Given the description of an element on the screen output the (x, y) to click on. 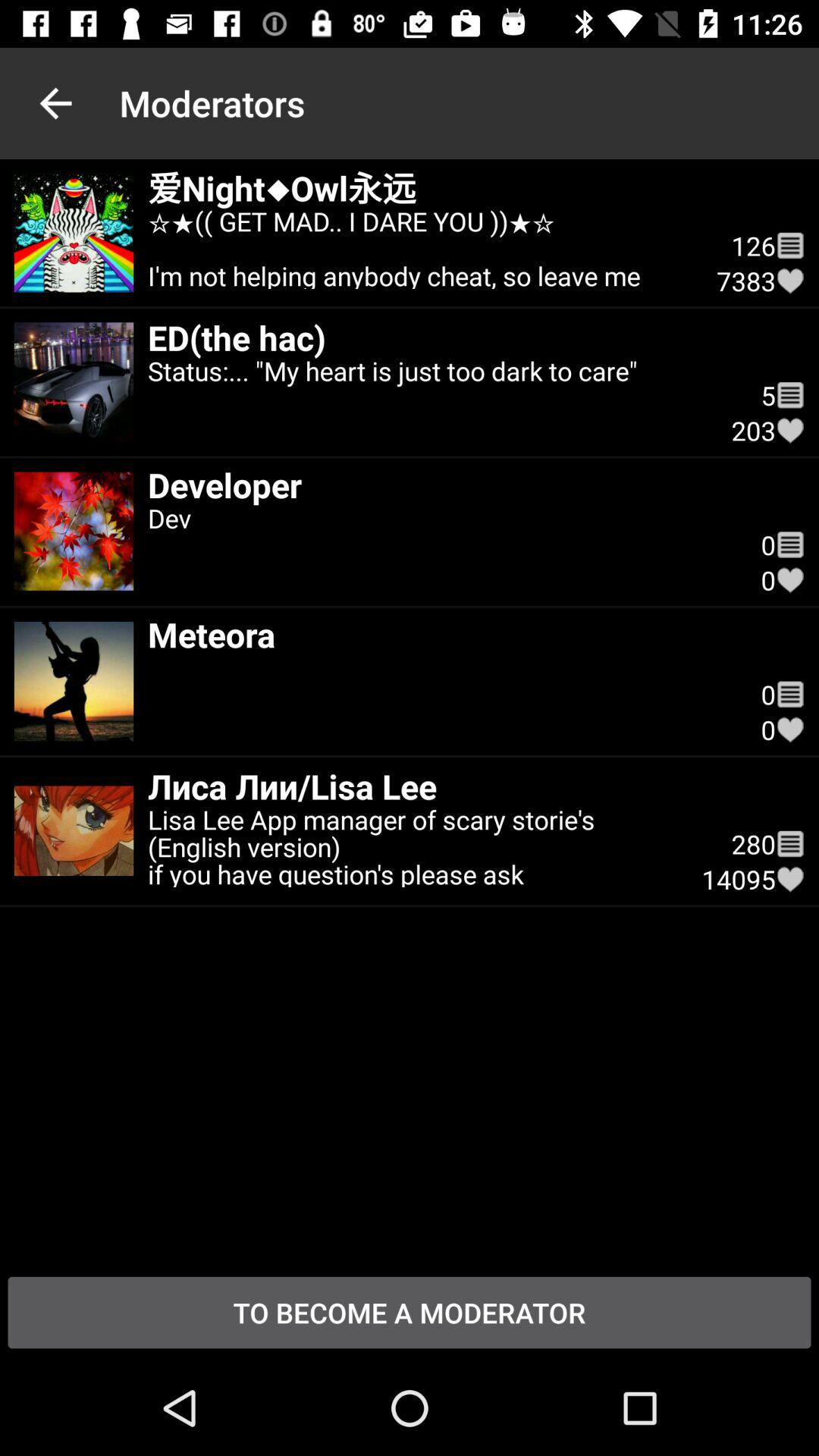
jump to to become a icon (409, 1312)
